Given the description of an element on the screen output the (x, y) to click on. 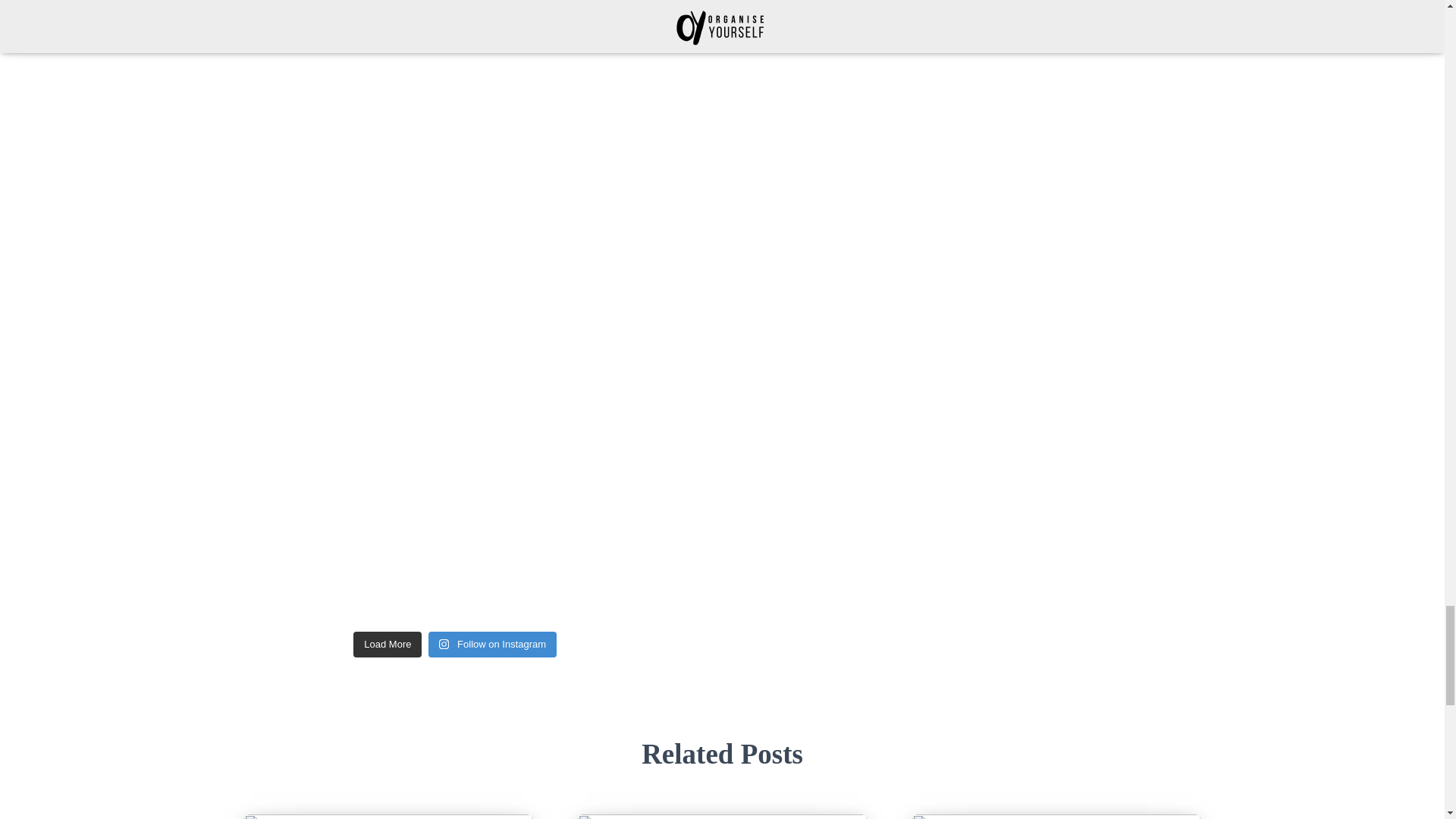
Load More (387, 644)
Follow on Instagram (492, 644)
